Given the description of an element on the screen output the (x, y) to click on. 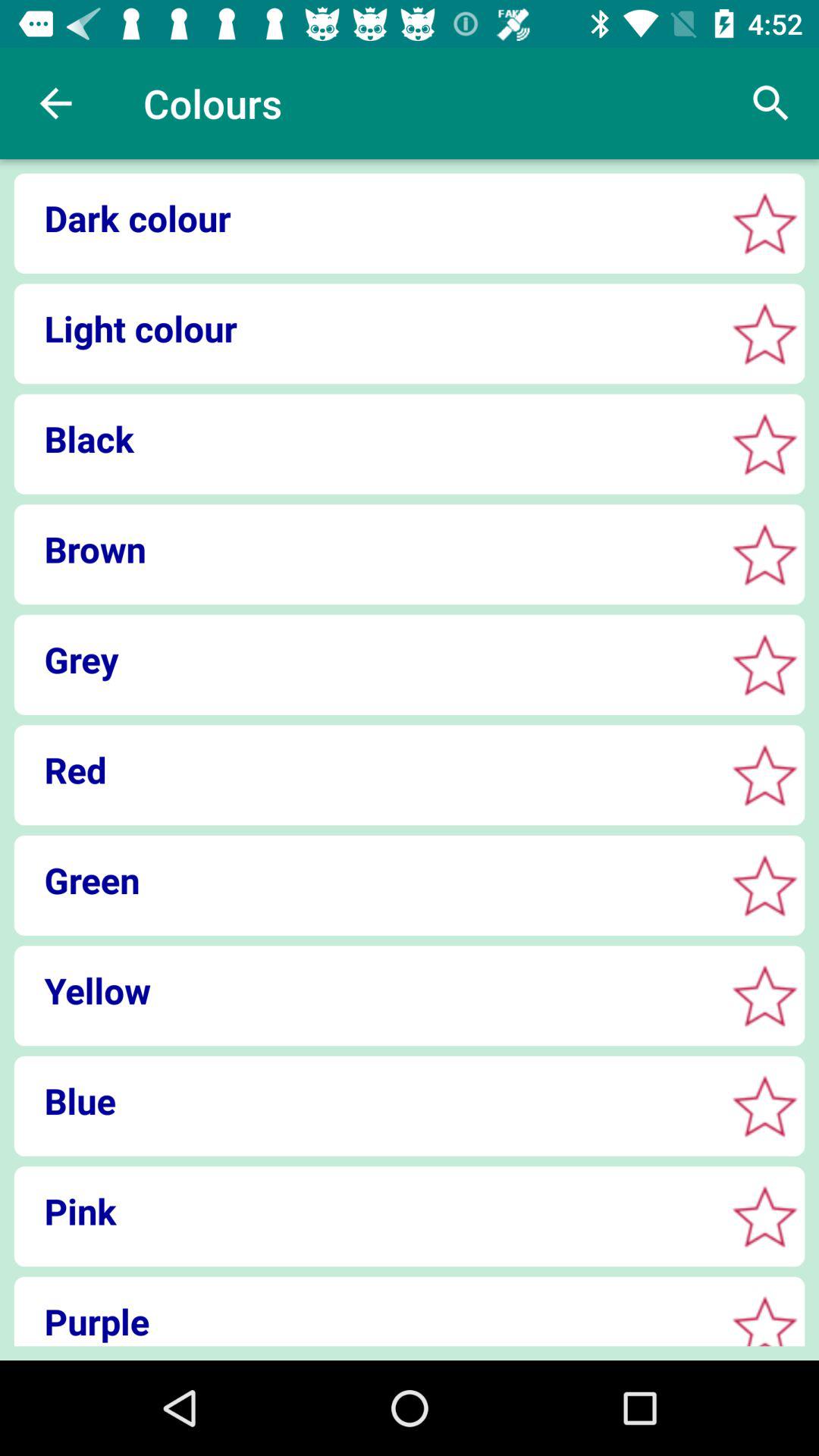
choose green option (764, 885)
